Given the description of an element on the screen output the (x, y) to click on. 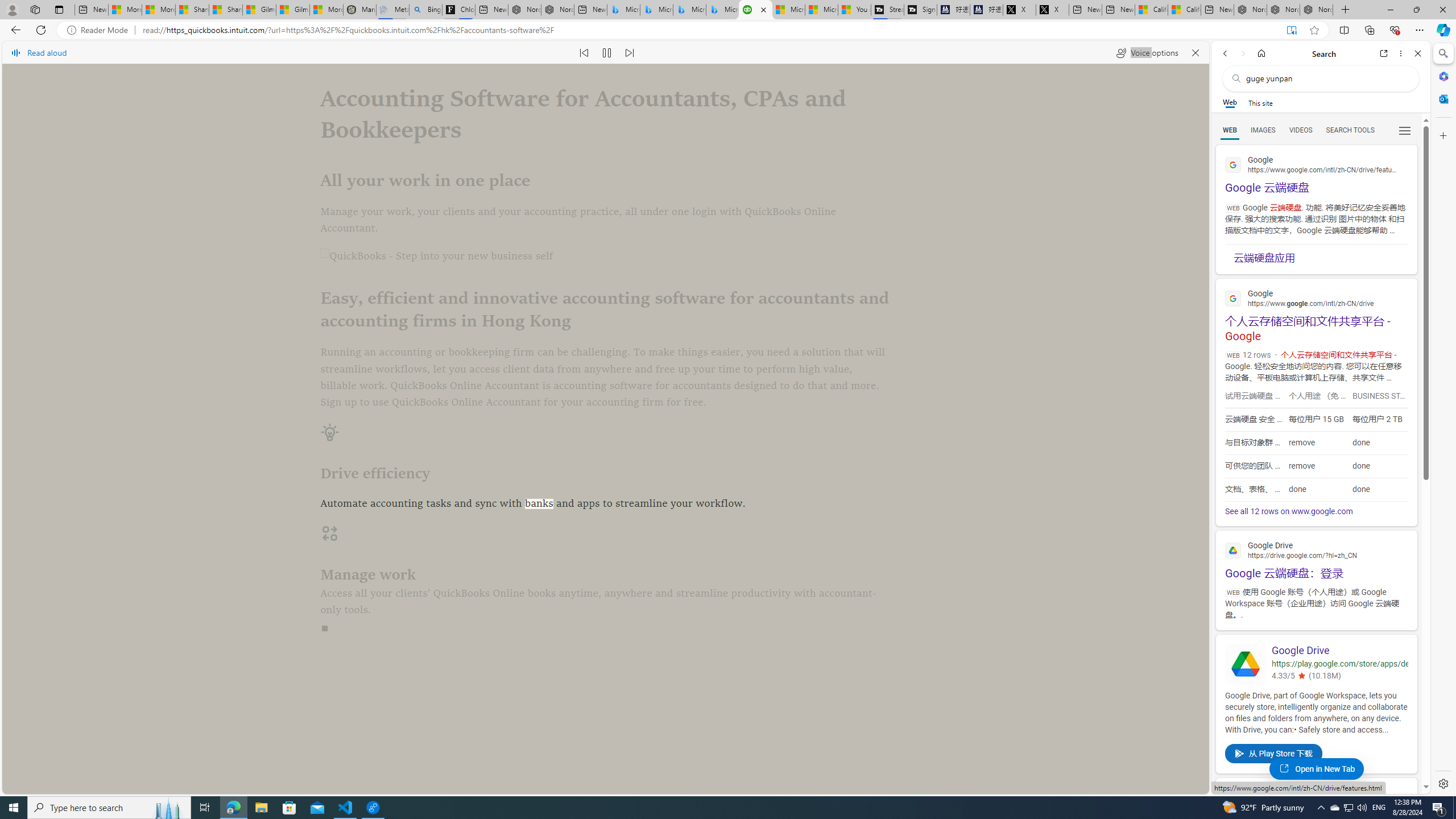
VIDEOS (1300, 130)
IMAGES (1262, 130)
